Given the description of an element on the screen output the (x, y) to click on. 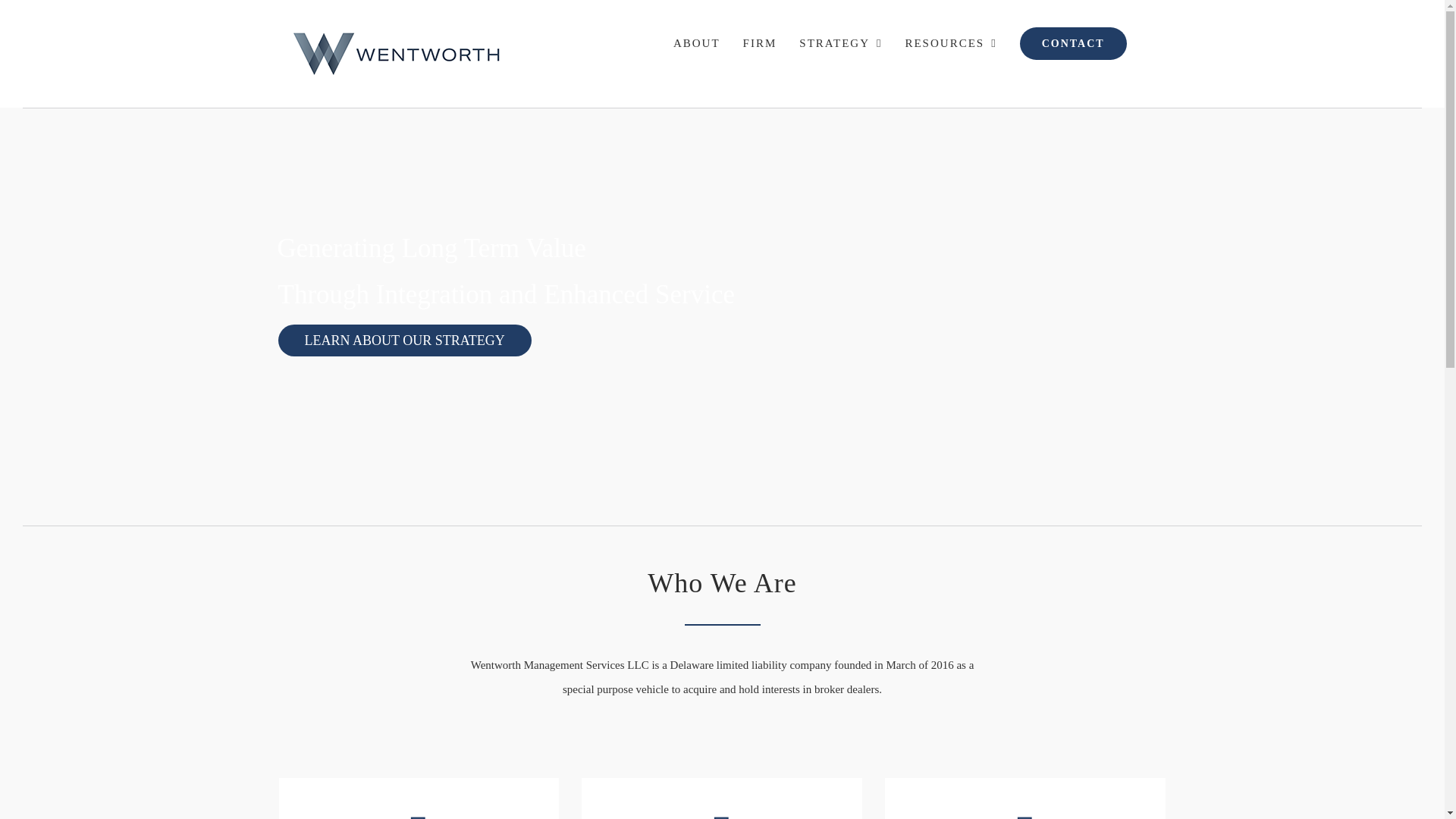
ABOUT (697, 43)
Contact Us (1024, 811)
Our Firm (418, 811)
RESOURCES (950, 43)
STRATEGY (840, 43)
CONTACT (1073, 43)
Our Strategy (721, 811)
FIRM (760, 43)
